Given the description of an element on the screen output the (x, y) to click on. 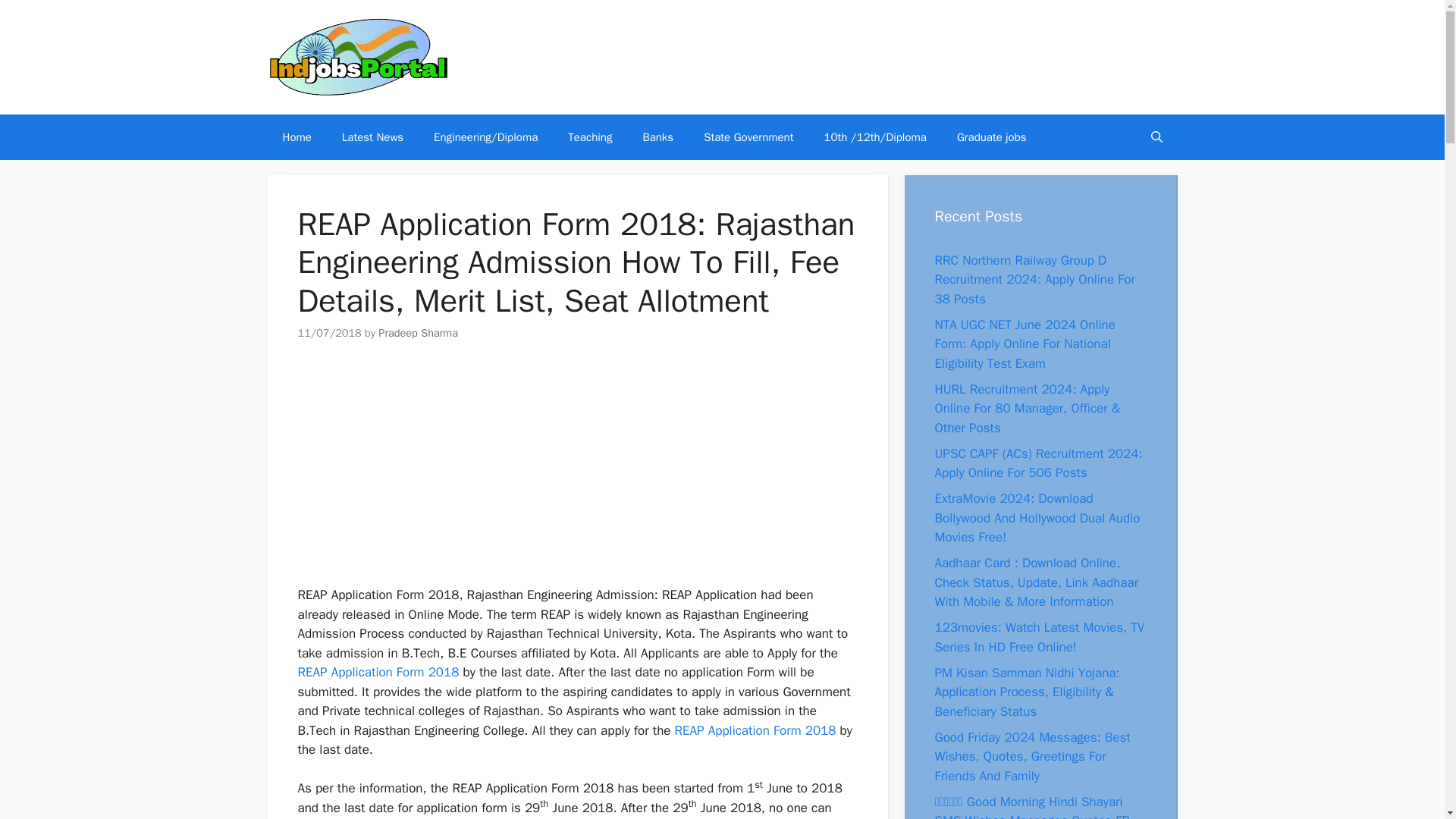
REAP Application Form 2018 (755, 730)
State Government (748, 136)
Banks (657, 136)
Teaching (590, 136)
Latest News (372, 136)
Pradeep Sharma (418, 332)
123movies: Watch Latest Movies, TV Series In HD Free Online! (1039, 637)
View all posts by Pradeep Sharma (418, 332)
Home (296, 136)
Graduate jobs (992, 136)
REAP Application Form 2018 (377, 672)
